Given the description of an element on the screen output the (x, y) to click on. 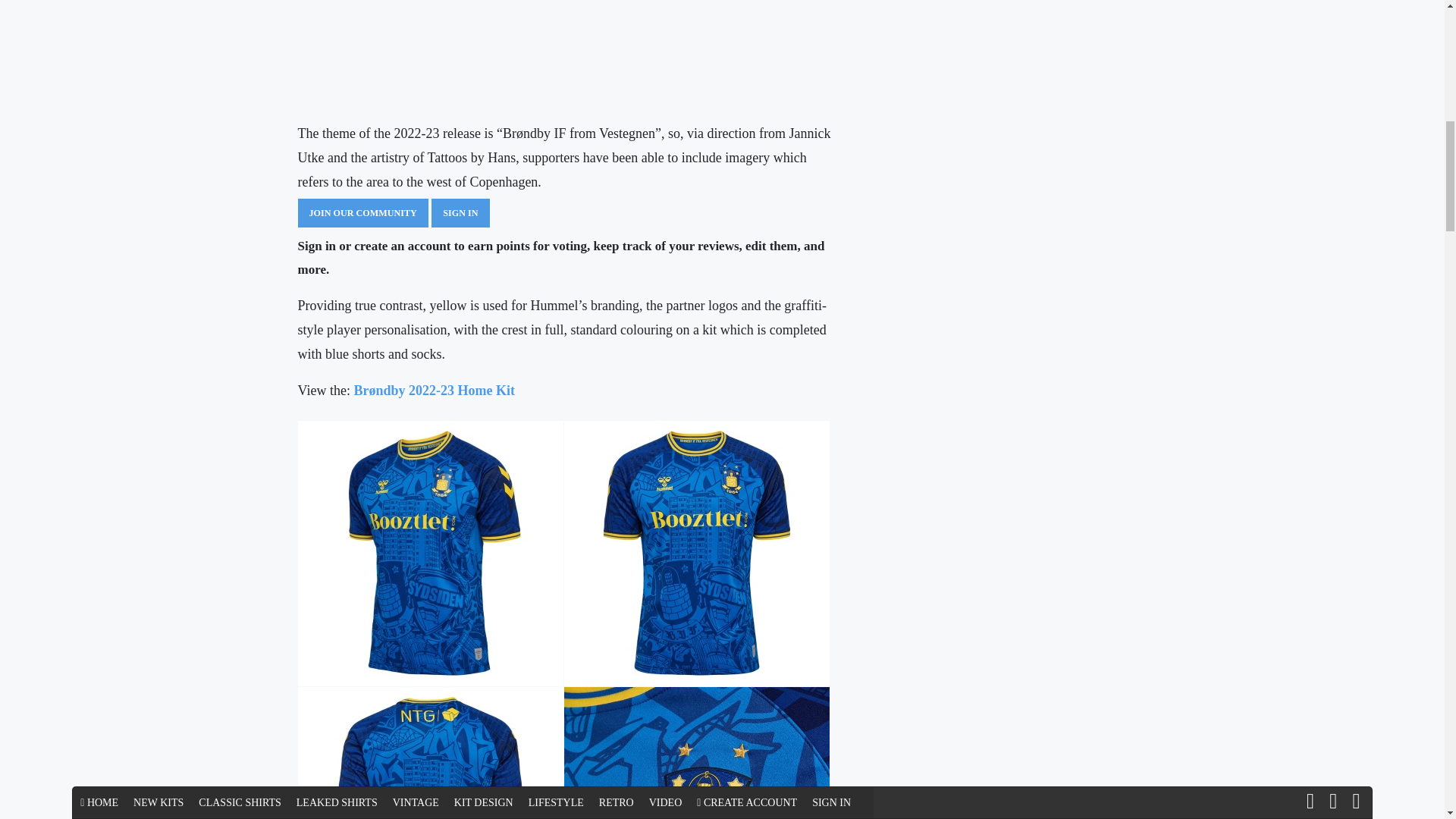
JOIN OUR COMMUNITY (362, 213)
SIGN IN (459, 213)
Advertisement (566, 54)
